Given the description of an element on the screen output the (x, y) to click on. 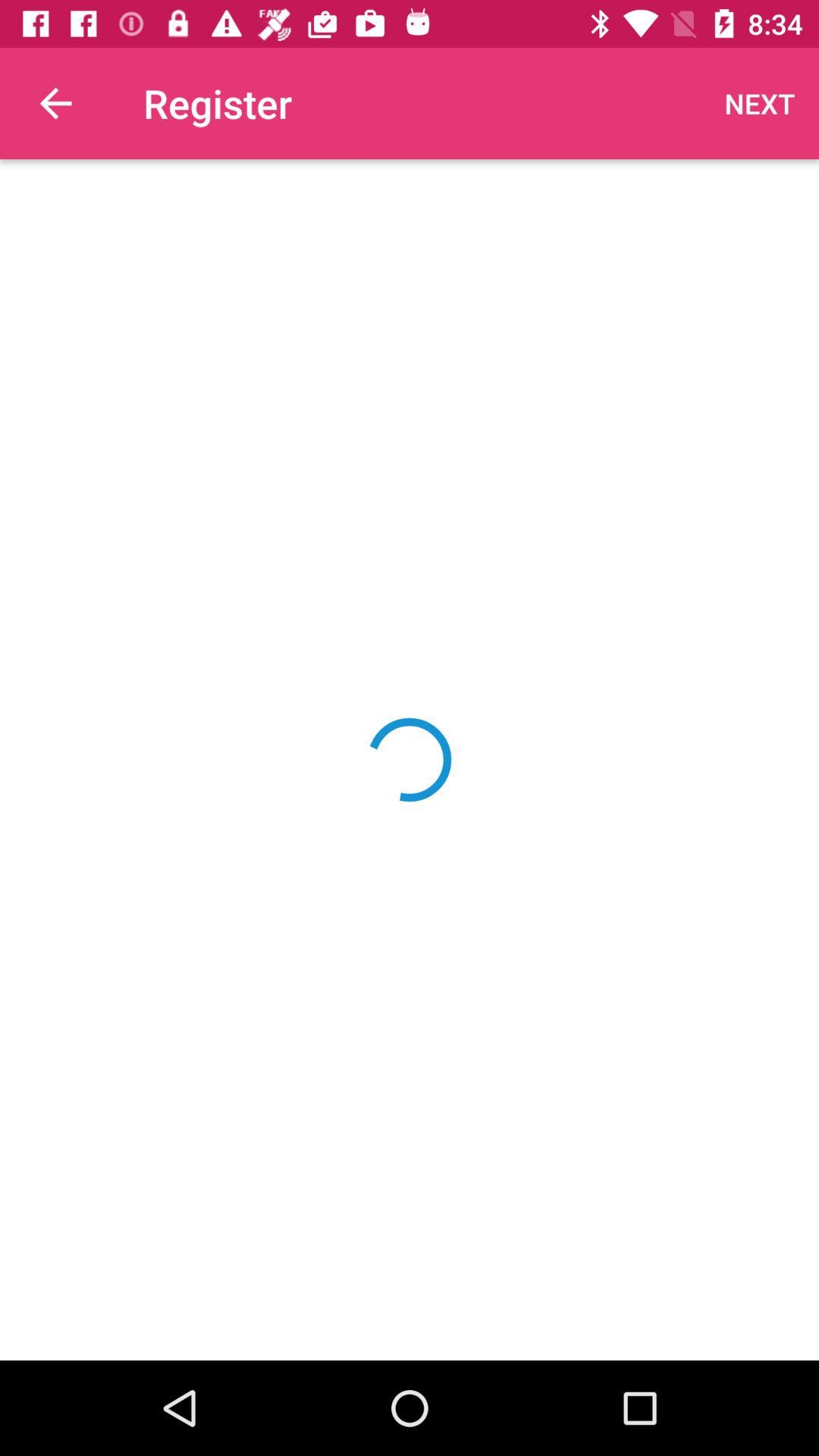
press the next icon (759, 103)
